Given the description of an element on the screen output the (x, y) to click on. 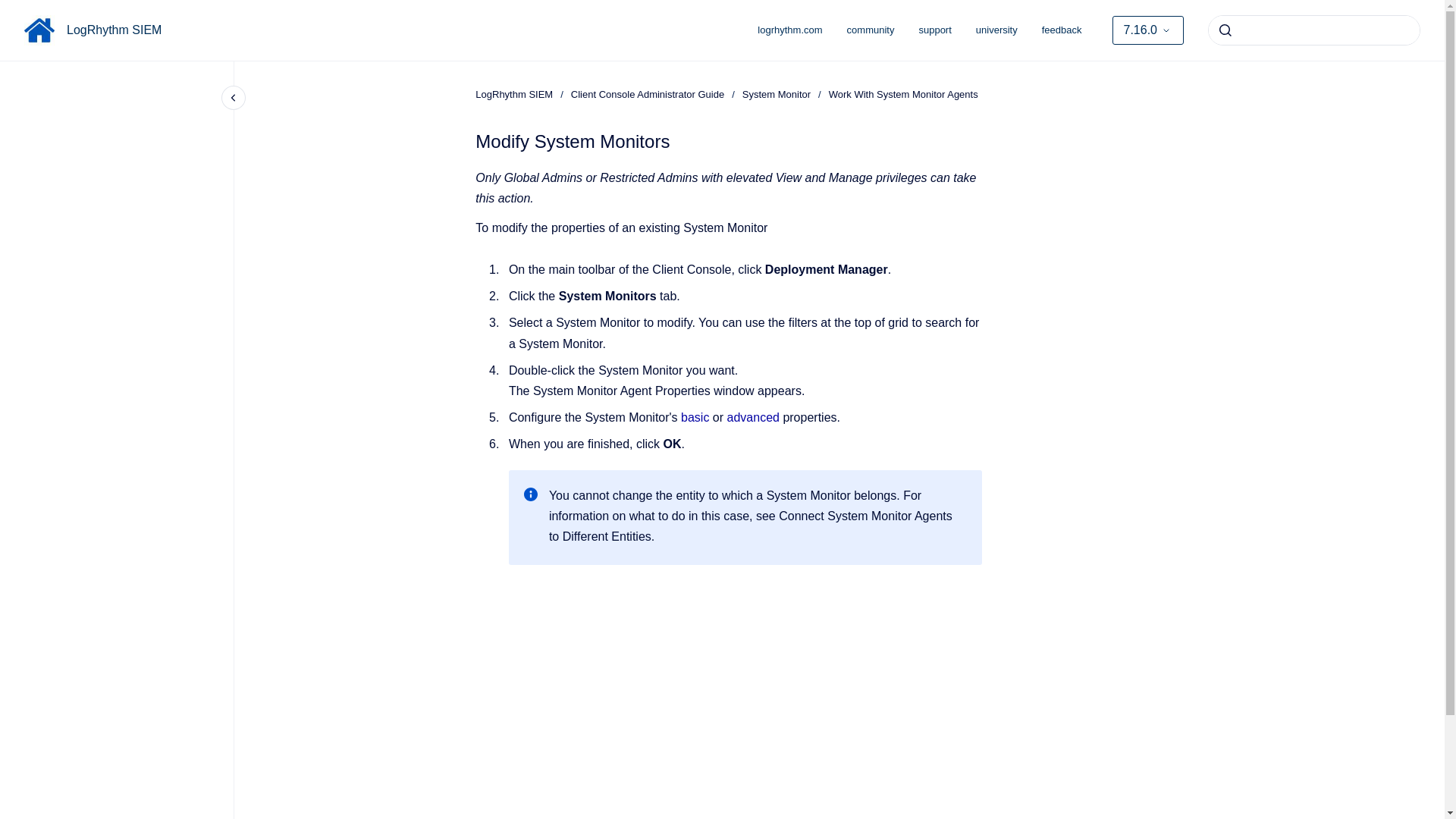
7.16.0 (1147, 30)
Client Console Administrator Guide (646, 94)
basic  (697, 417)
LogRhythm SIEM (514, 94)
logrhythm.com (789, 29)
Work With System Monitor Agents (903, 94)
Go to homepage (39, 30)
advanced  (754, 417)
community (870, 29)
LogRhythm SIEM (113, 29)
System Monitor (776, 94)
support (933, 29)
Connect System Monitor Agents to Different Entities (750, 525)
university (996, 29)
feedback (1061, 29)
